Given the description of an element on the screen output the (x, y) to click on. 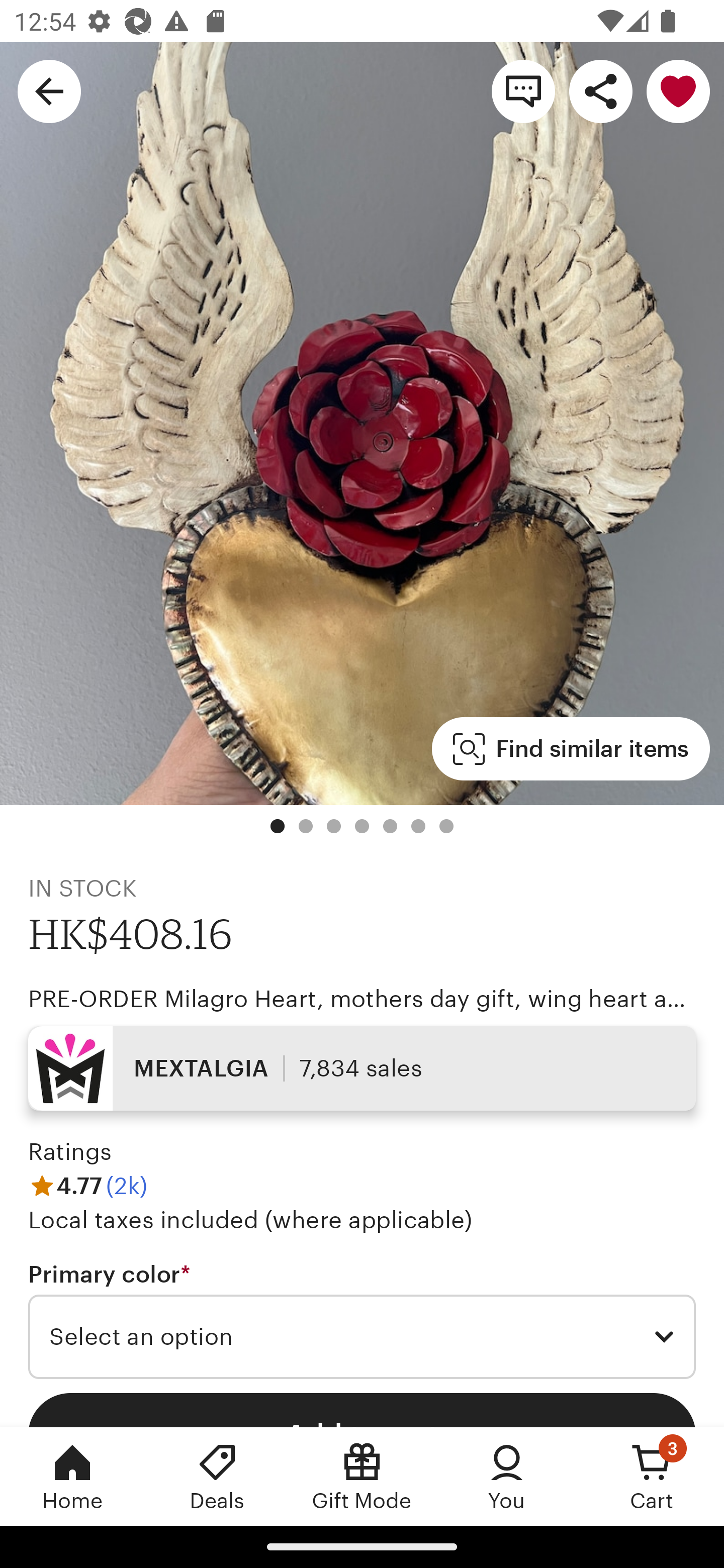
Navigate up (49, 90)
Contact shop (523, 90)
Share (600, 90)
Find similar items (571, 748)
MEXTALGIA 7,834 sales (361, 1067)
Ratings (70, 1151)
4.77 (2k) (87, 1185)
Primary color * Required Select an option (361, 1319)
Select an option (361, 1336)
Deals (216, 1475)
Gift Mode (361, 1475)
You (506, 1475)
Cart, 3 new notifications Cart (651, 1475)
